Given the description of an element on the screen output the (x, y) to click on. 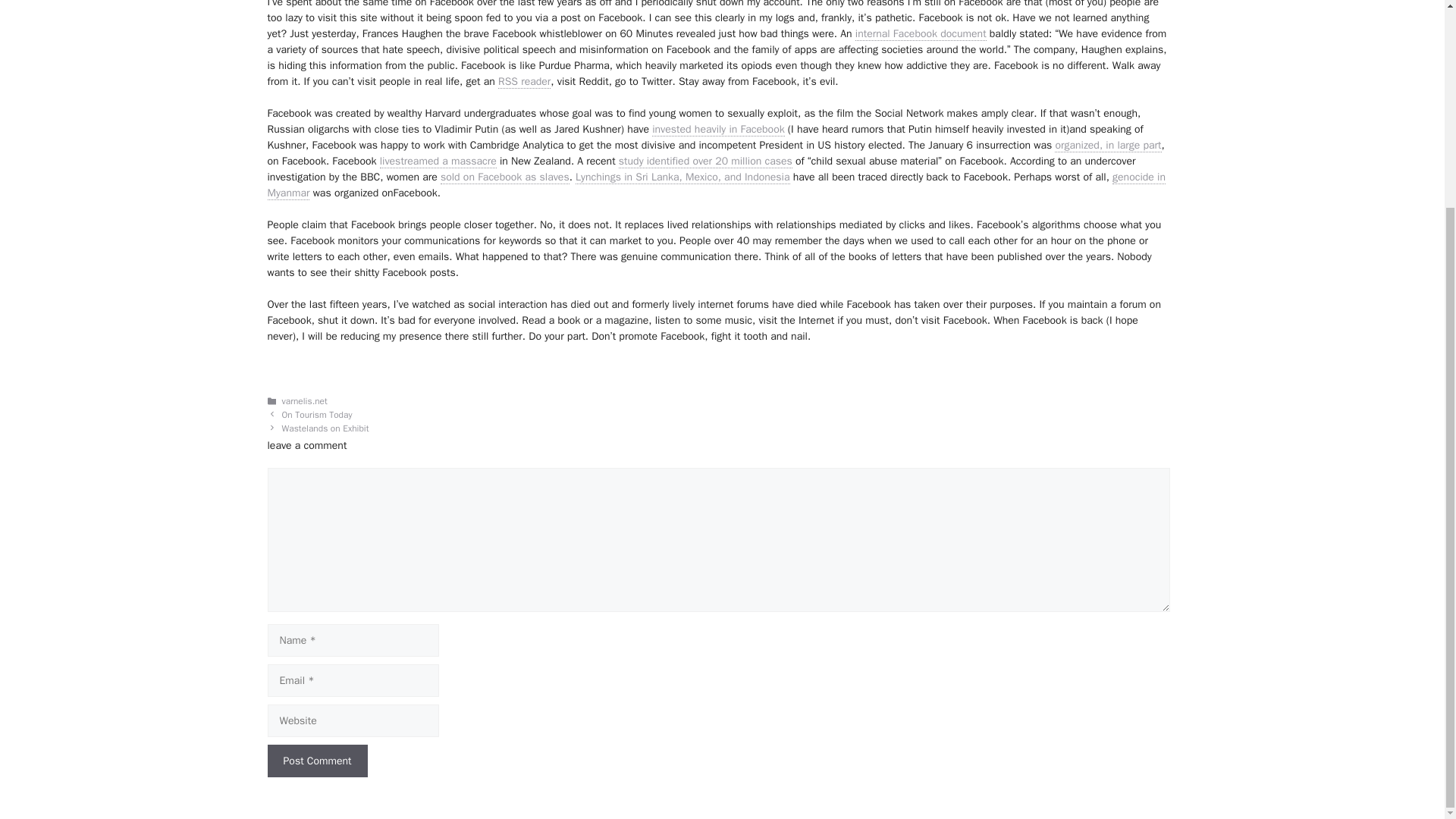
organized, in large part (1107, 145)
Wastelands on Exhibit (325, 428)
On Tourism Today (317, 414)
invested heavily in Facebook (718, 129)
Lynchings in Sri Lanka, Mexico, and Indonesia (682, 177)
livestreamed a massacre (438, 161)
internal Facebook document (921, 33)
Post Comment (316, 760)
RSS reader (523, 81)
genocide in Myanmar (715, 184)
Post Comment (316, 760)
varnelis.net (304, 401)
study identified over 20 million cases (705, 161)
sold on Facebook as slaves (505, 177)
